Given the description of an element on the screen output the (x, y) to click on. 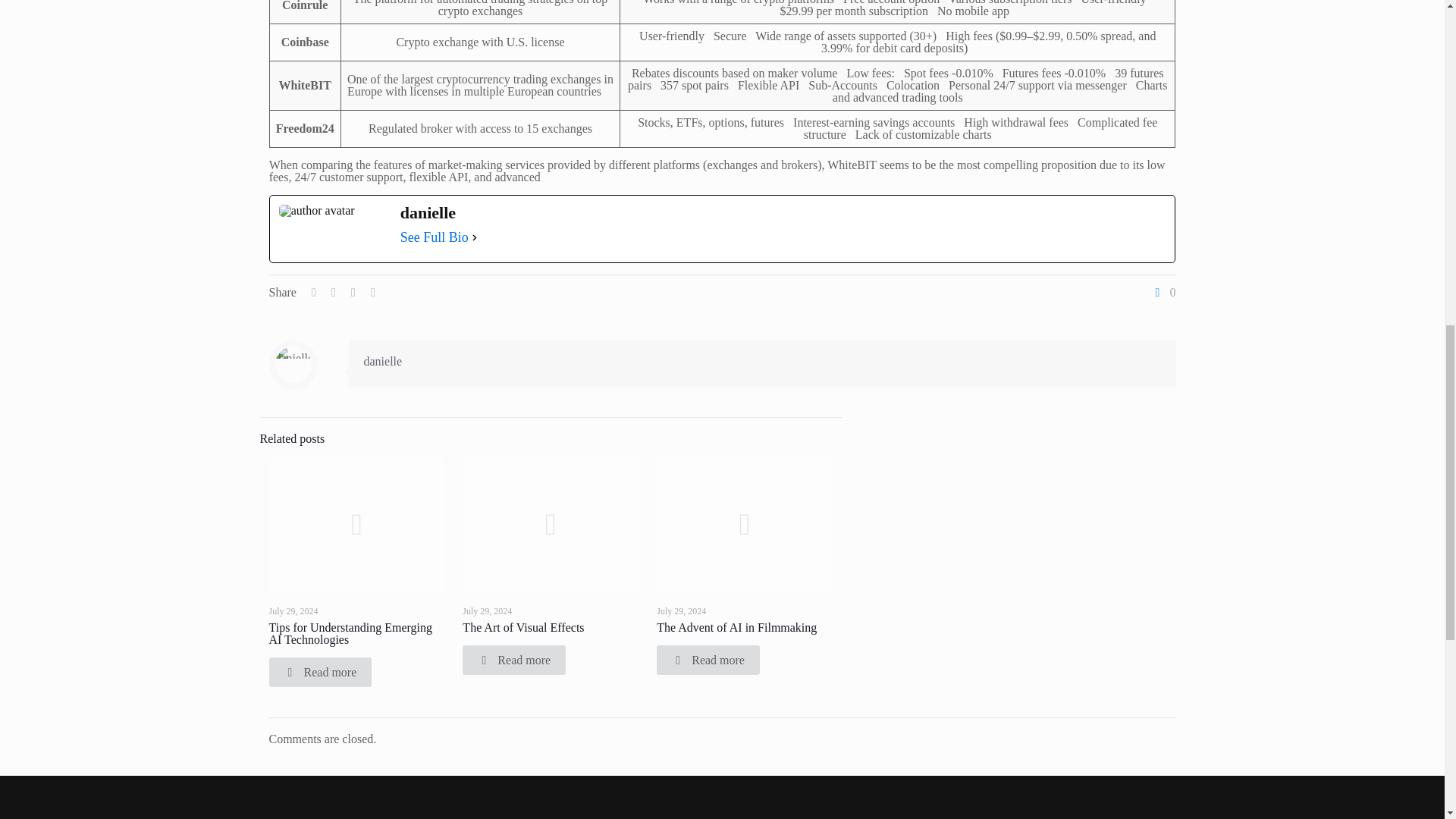
Read more (708, 659)
Tips for Understanding Emerging AI Technologies (349, 633)
The Art of Visual Effects (523, 626)
See Full Bio (434, 237)
danielle (383, 360)
The Advent of AI in Filmmaking (736, 626)
0 (1162, 292)
Read more (514, 659)
Read more (319, 672)
